Given the description of an element on the screen output the (x, y) to click on. 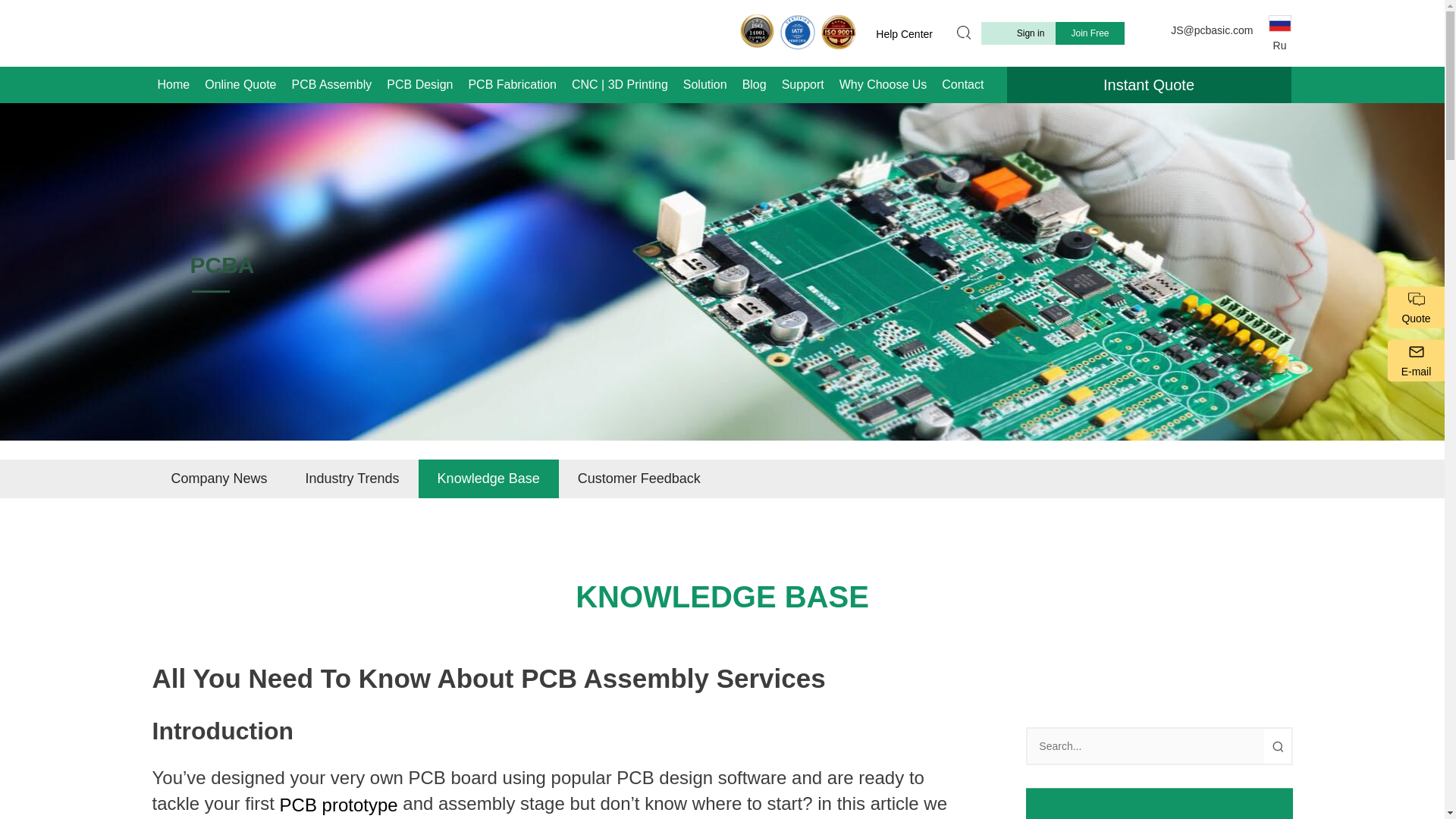
Join Free (1089, 33)
PCB Design (419, 84)
Sign in (1019, 33)
Home (173, 84)
PCB Assembly (331, 84)
Online Quote (240, 84)
PCB Fabrication (511, 84)
Help Center   (905, 33)
